Given the description of an element on the screen output the (x, y) to click on. 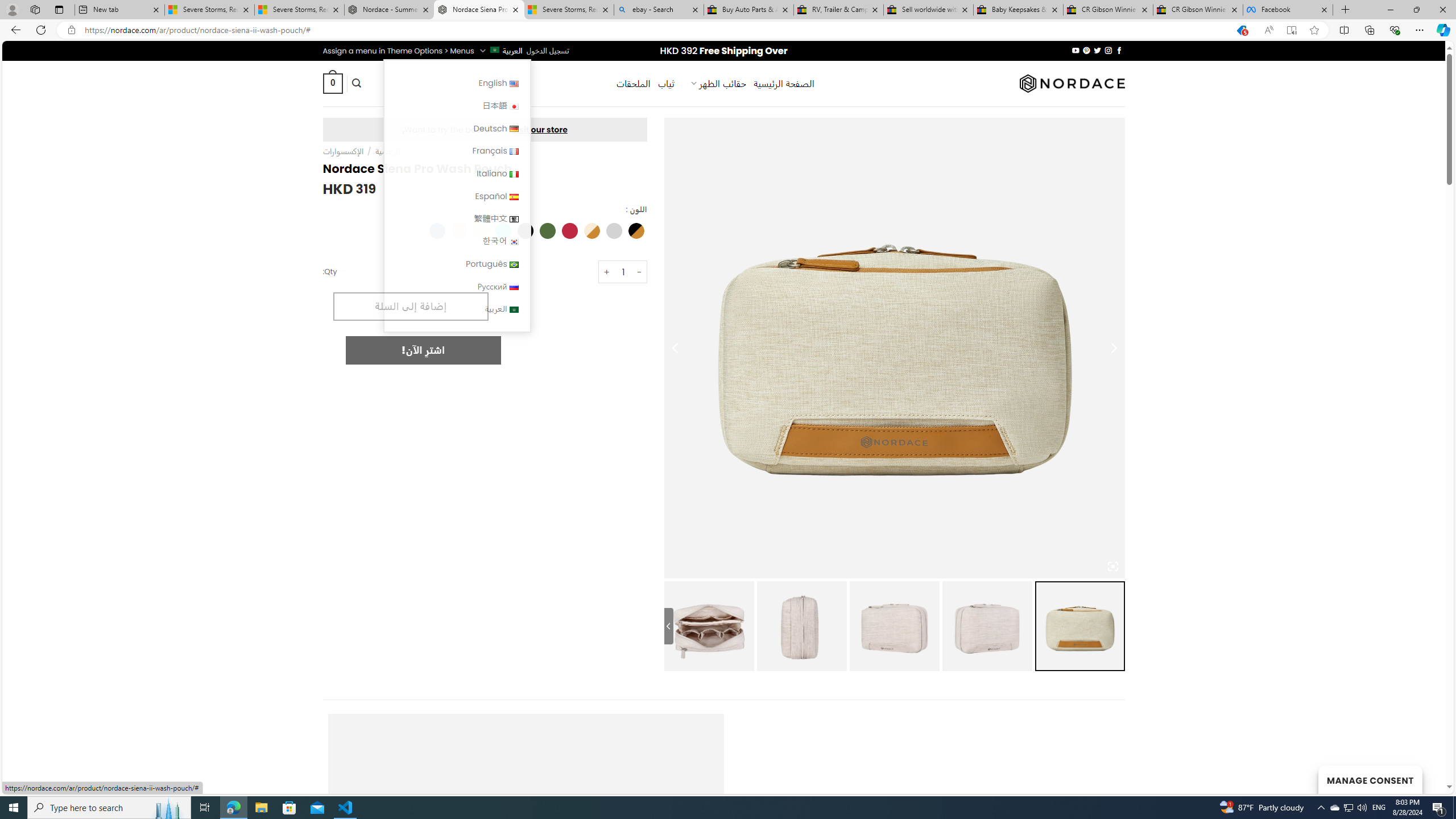
Browser essentials (1394, 29)
Italiano Italiano (456, 173)
Collections (1369, 29)
Settings and more (Alt+F) (1419, 29)
Split screen (1344, 29)
Read aloud this page (Ctrl+Shift+U) (1268, 29)
Sell worldwide with eBay (928, 9)
Add this page to favorites (Ctrl+D) (1314, 29)
Buy Auto Parts & Accessories | eBay (747, 9)
